Given the description of an element on the screen output the (x, y) to click on. 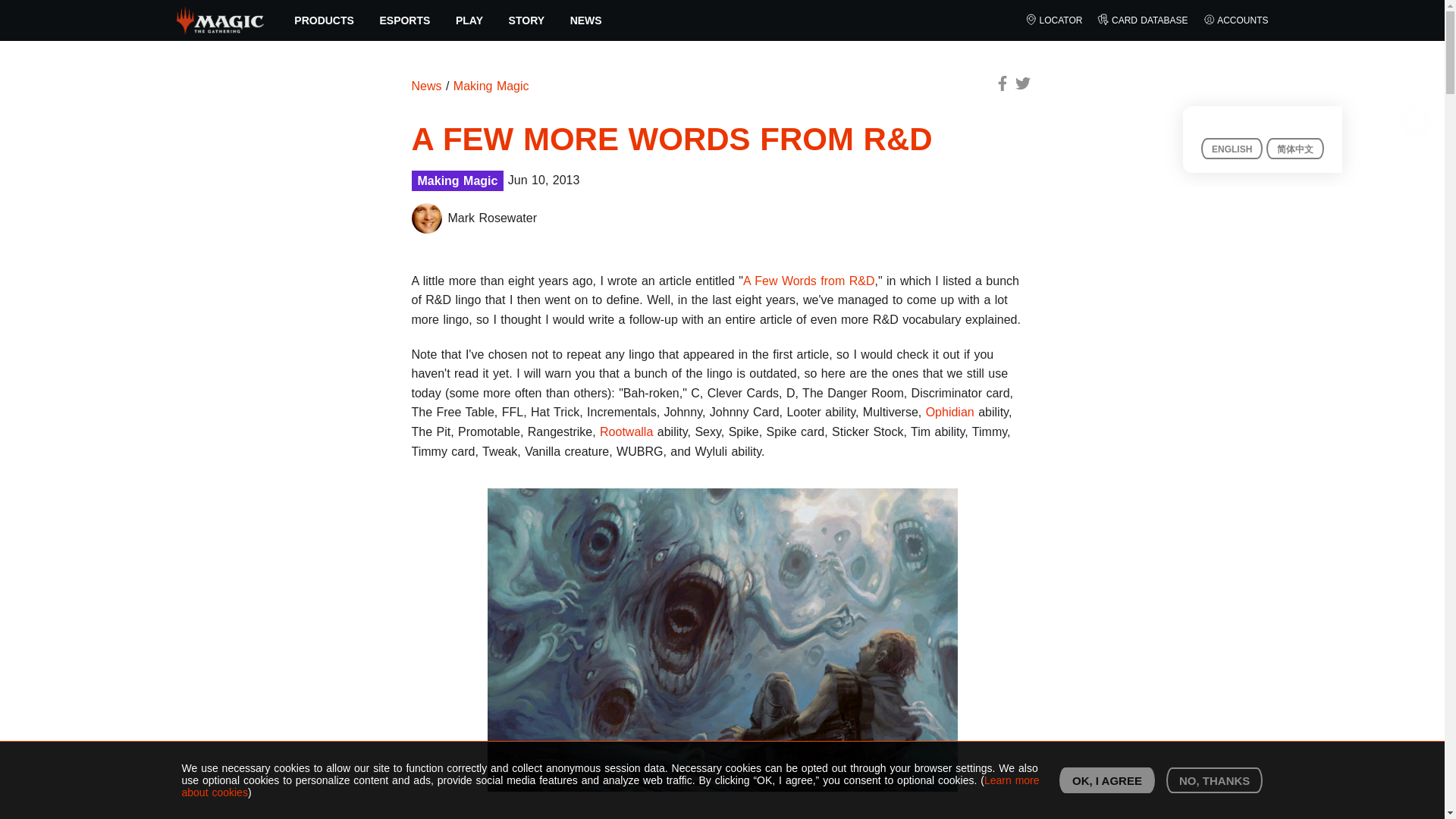
ESPORTS (405, 20)
PRODUCTS (324, 20)
PLAY (469, 20)
